Given the description of an element on the screen output the (x, y) to click on. 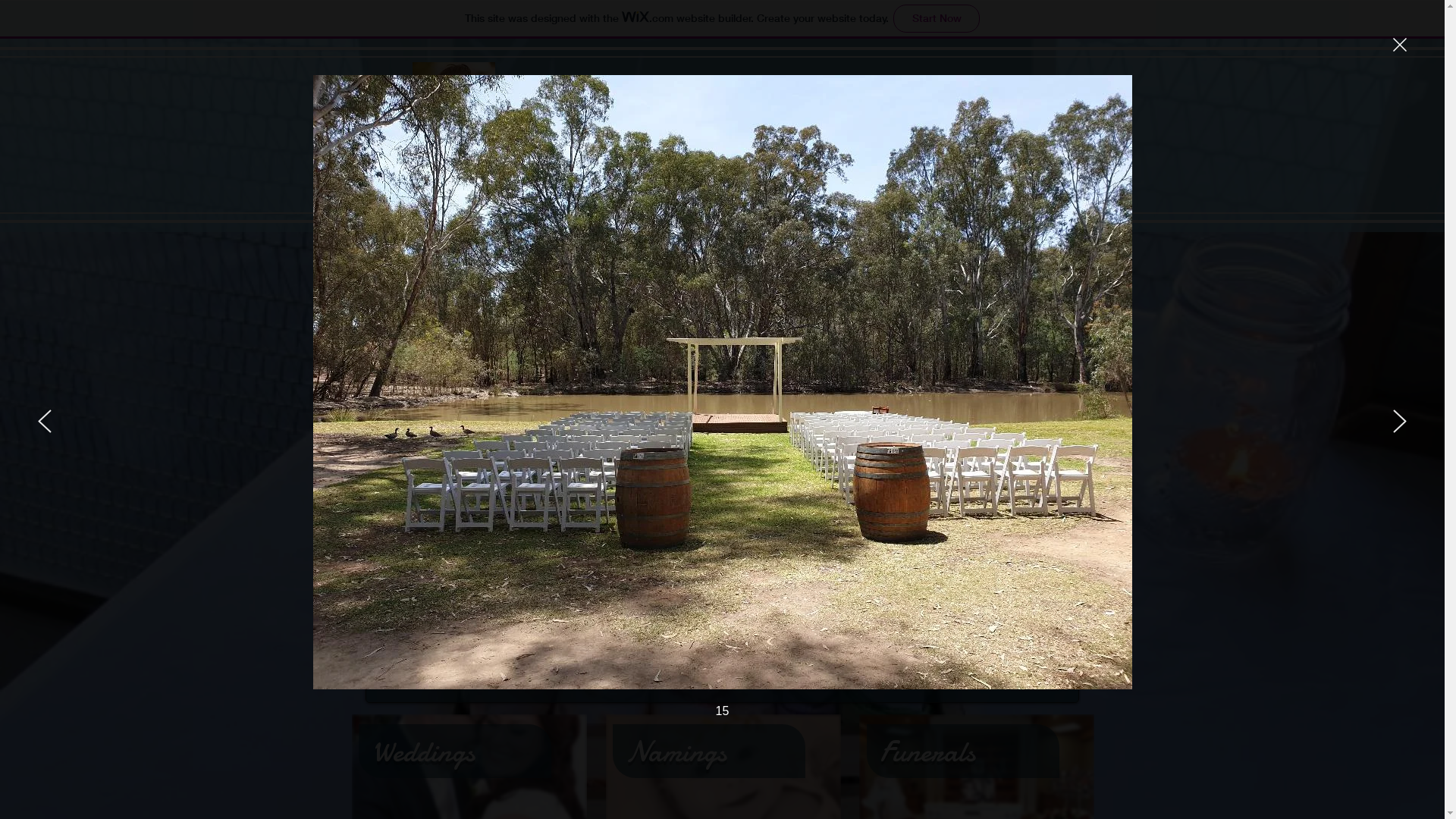
SERVICES Element type: text (714, 211)
CONTACT Element type: text (931, 211)
HOME Element type: text (504, 211)
